Given the description of an element on the screen output the (x, y) to click on. 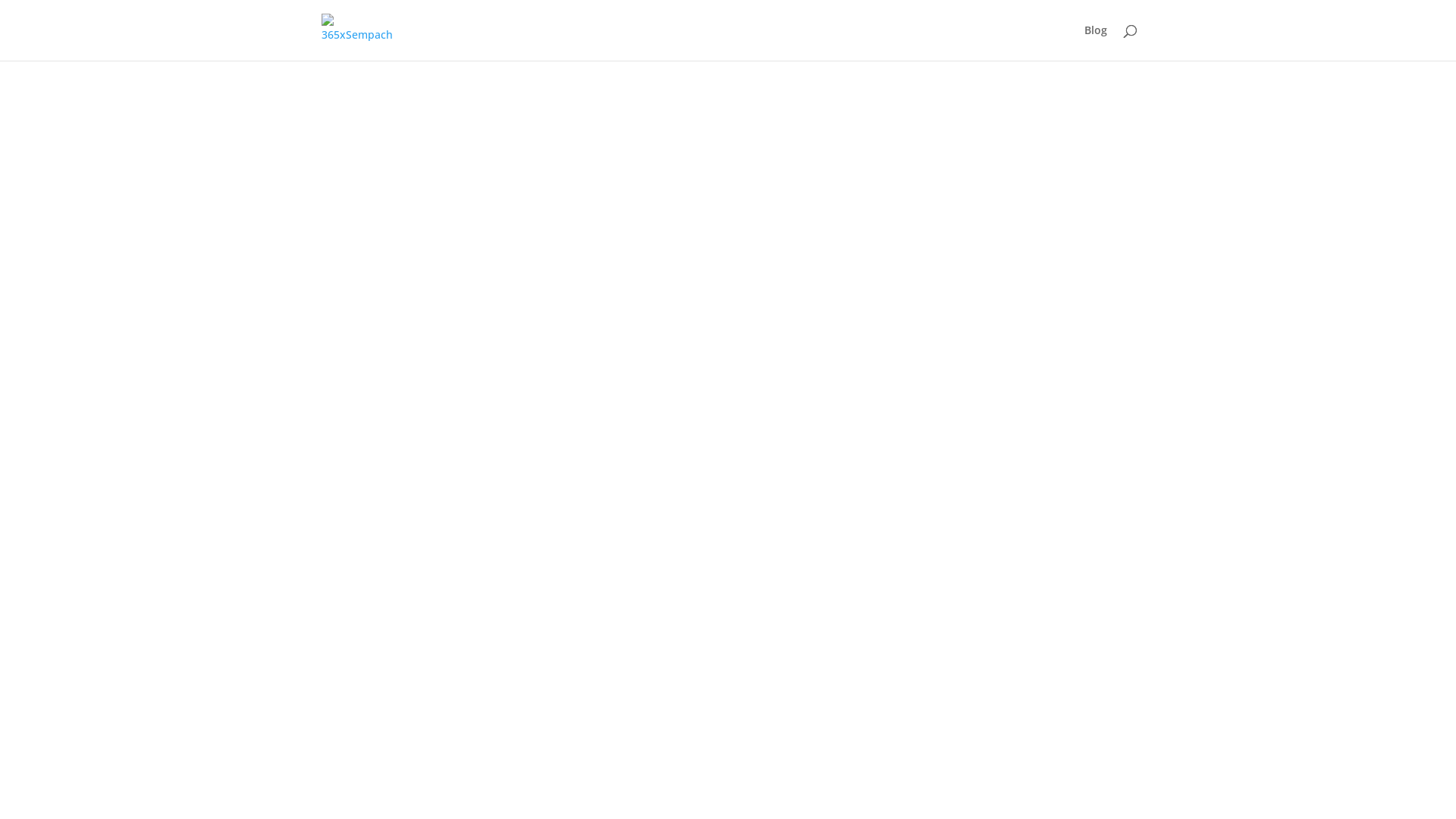
Blog Element type: text (1095, 42)
